Given the description of an element on the screen output the (x, y) to click on. 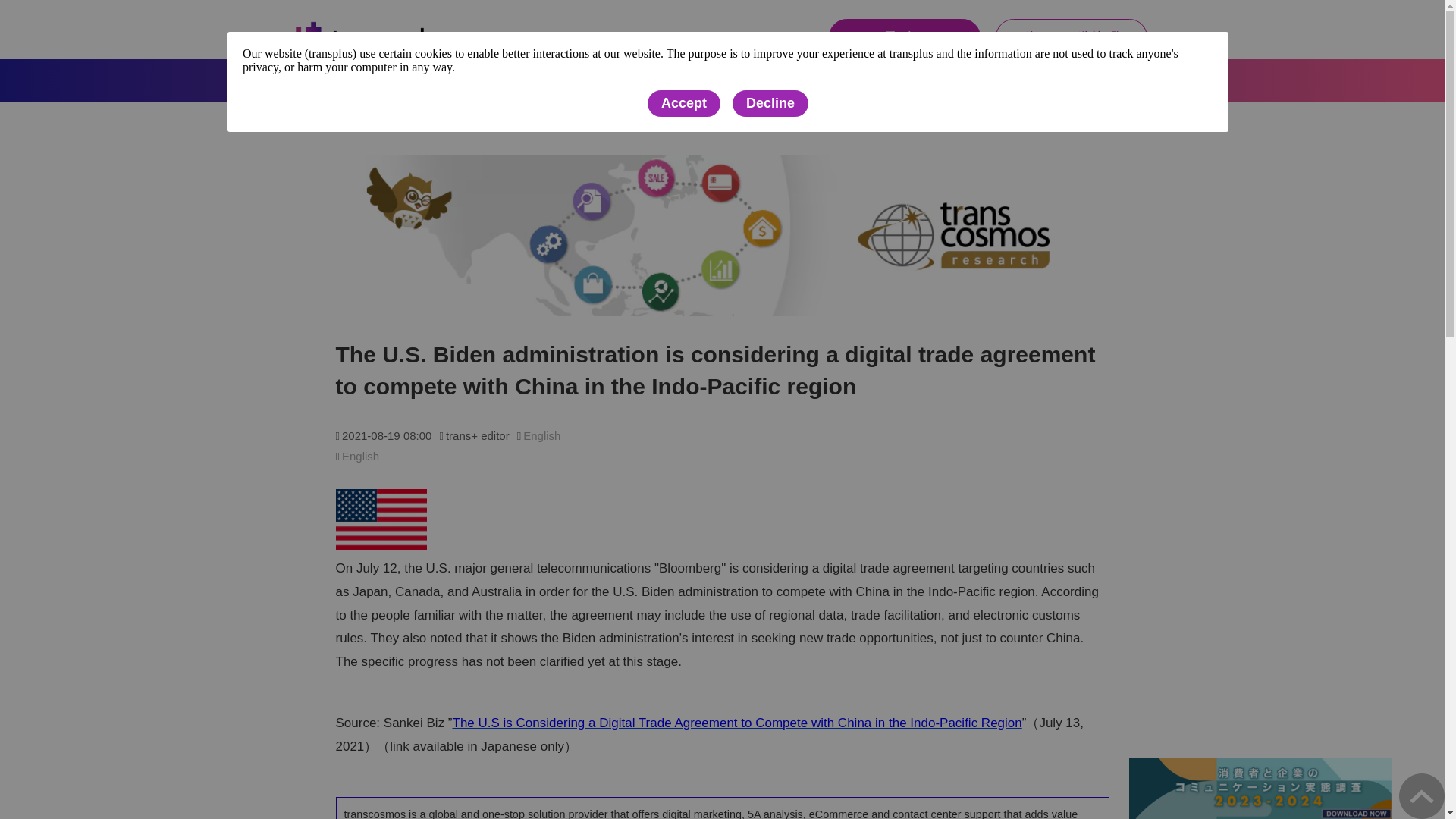
English (541, 435)
English (360, 455)
English (1103, 80)
